Given the description of an element on the screen output the (x, y) to click on. 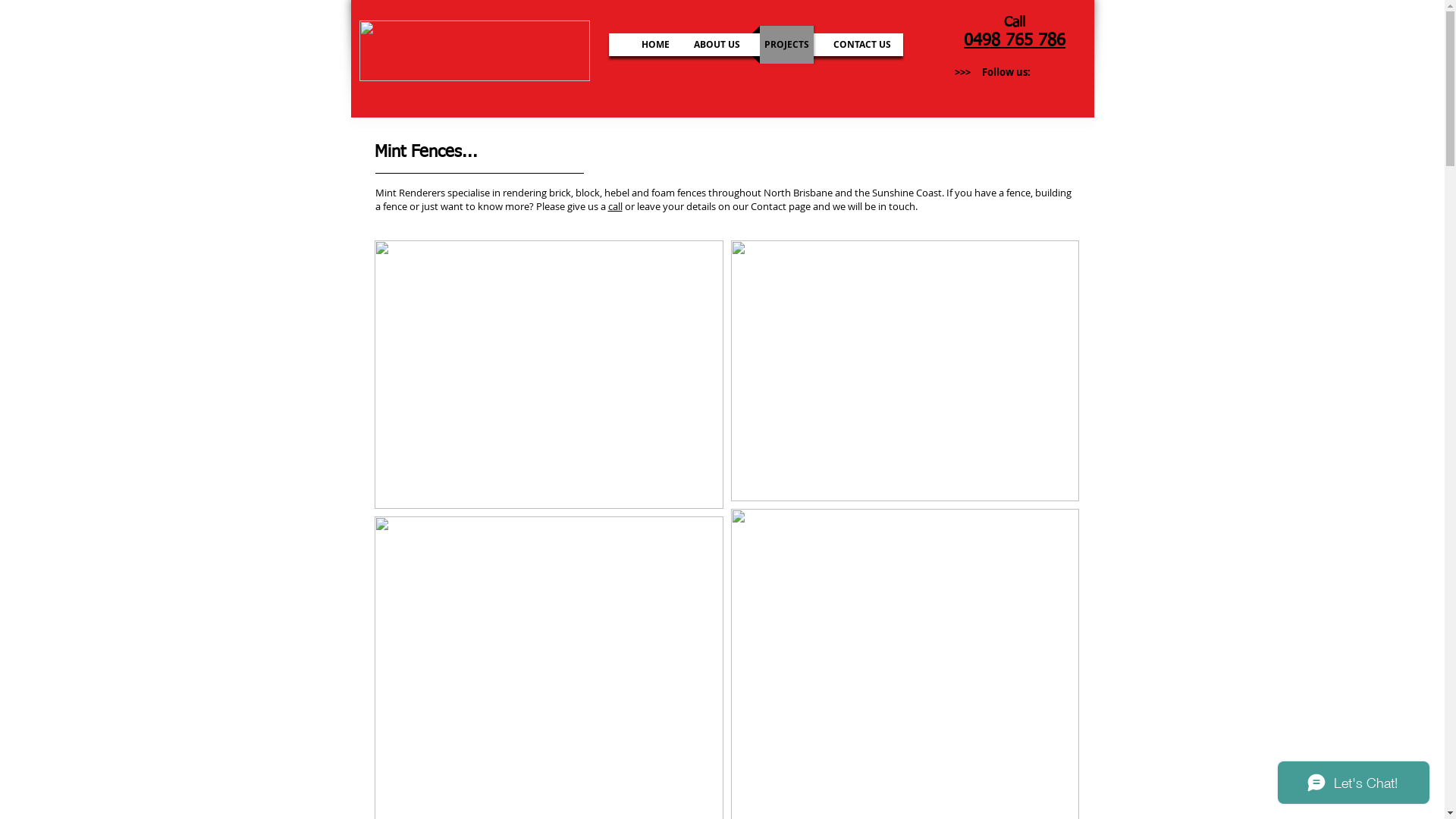
ABOUT US Element type: text (715, 44)
call Element type: text (615, 206)
HOME Element type: text (655, 44)
PROJECTS Element type: text (786, 44)
CONTACT US Element type: text (861, 44)
0498 765 786 Element type: text (1014, 40)
